Given the description of an element on the screen output the (x, y) to click on. 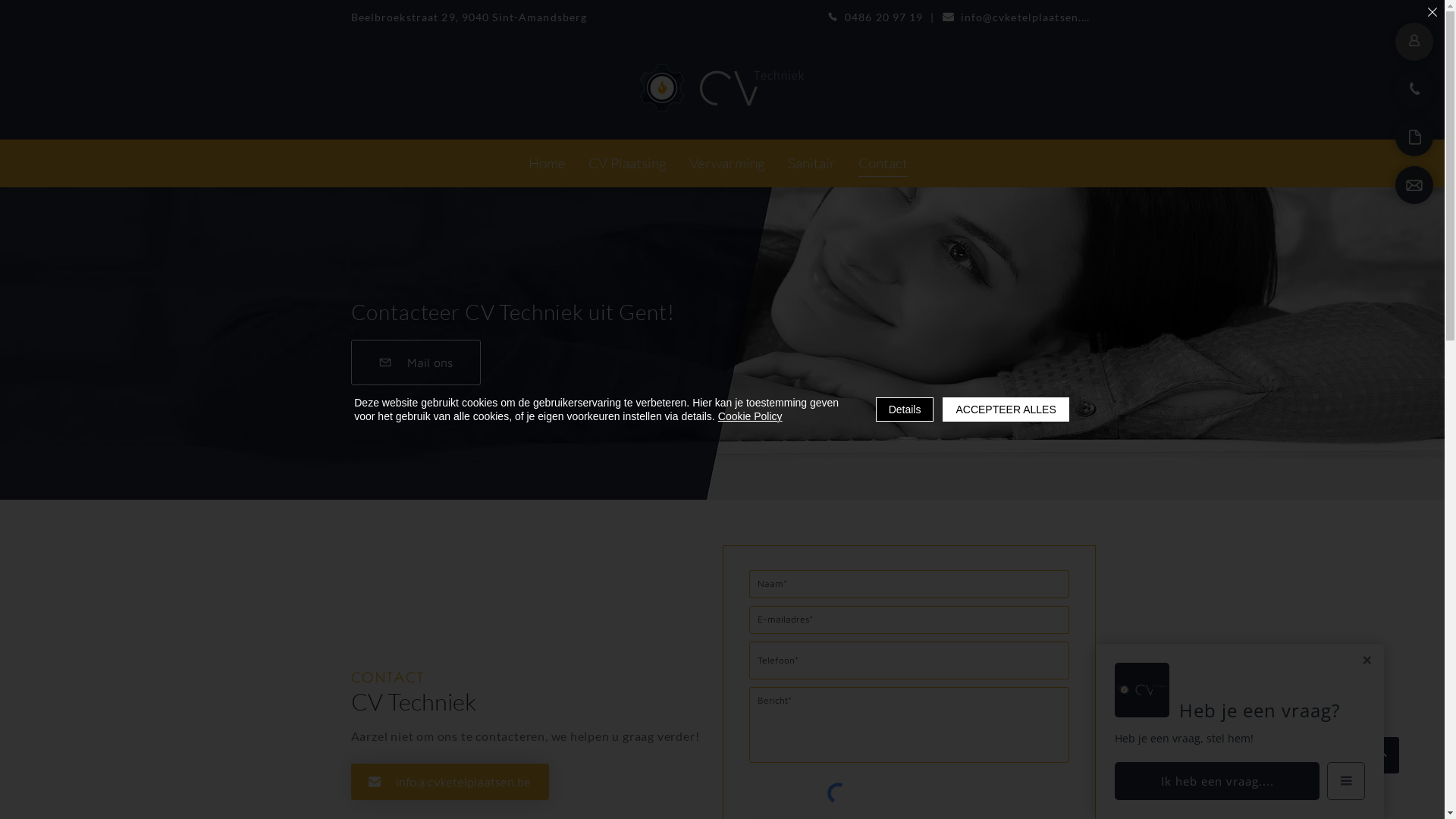
info@cvketelplaatsen.be Element type: text (449, 781)
0486 20 97 19 Element type: text (874, 16)
Ik heb een vraag.... Element type: text (1216, 781)
Verwarming Element type: text (726, 163)
CV Plaatsing Element type: text (627, 163)
Mail ons Element type: text (415, 362)
Details Element type: text (904, 409)
ACCEPTEER ALLES Element type: text (1005, 409)
Contact Element type: text (882, 163)
Home Element type: text (545, 163)
Sanitair Element type: text (810, 163)
info@cvketelplaatsen.be Element type: text (1017, 16)
Cookie Policy Element type: text (750, 416)
